Given the description of an element on the screen output the (x, y) to click on. 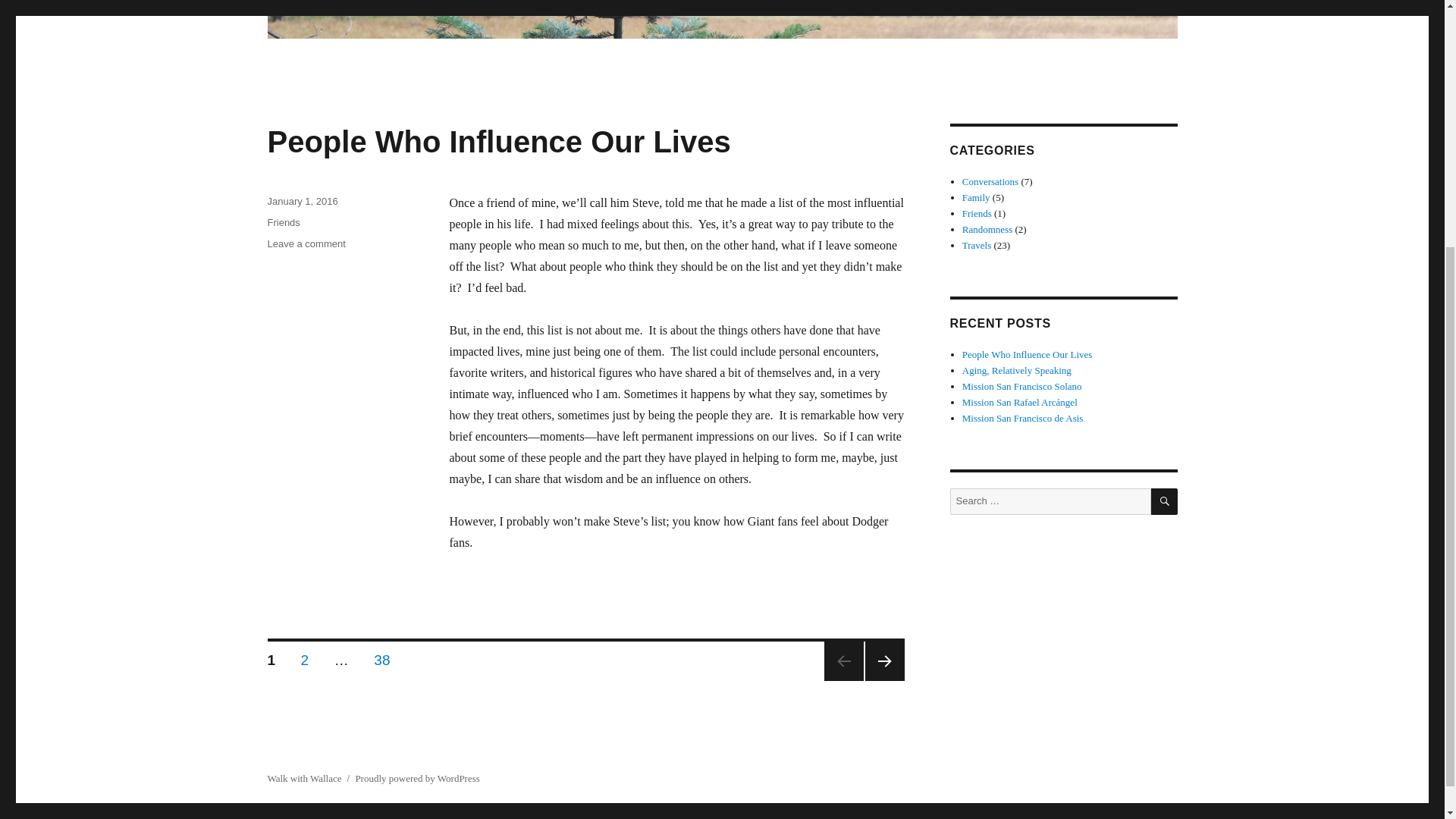
Walk with Wallace (303, 778)
Friends (282, 222)
Travels (305, 243)
Mission San Francisco Solano (976, 244)
Friends (304, 657)
Mission San Francisco de Asis (1021, 386)
Randomness (976, 213)
